Given the description of an element on the screen output the (x, y) to click on. 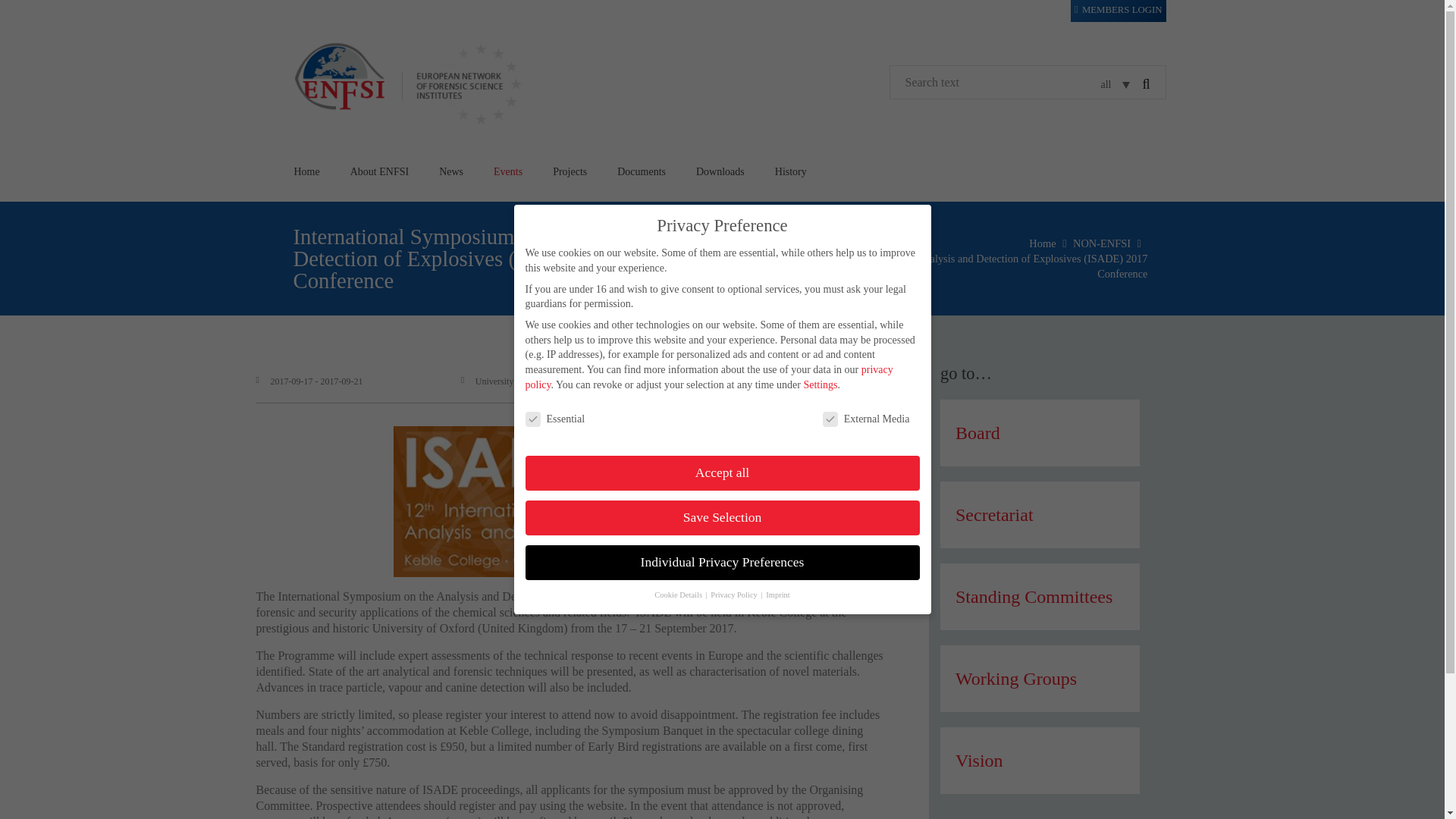
News (451, 171)
Events (508, 171)
Projects (569, 171)
Home (306, 171)
MEMBERS LOGIN (1117, 9)
Documents (641, 171)
About ENFSI (378, 171)
